Given the description of an element on the screen output the (x, y) to click on. 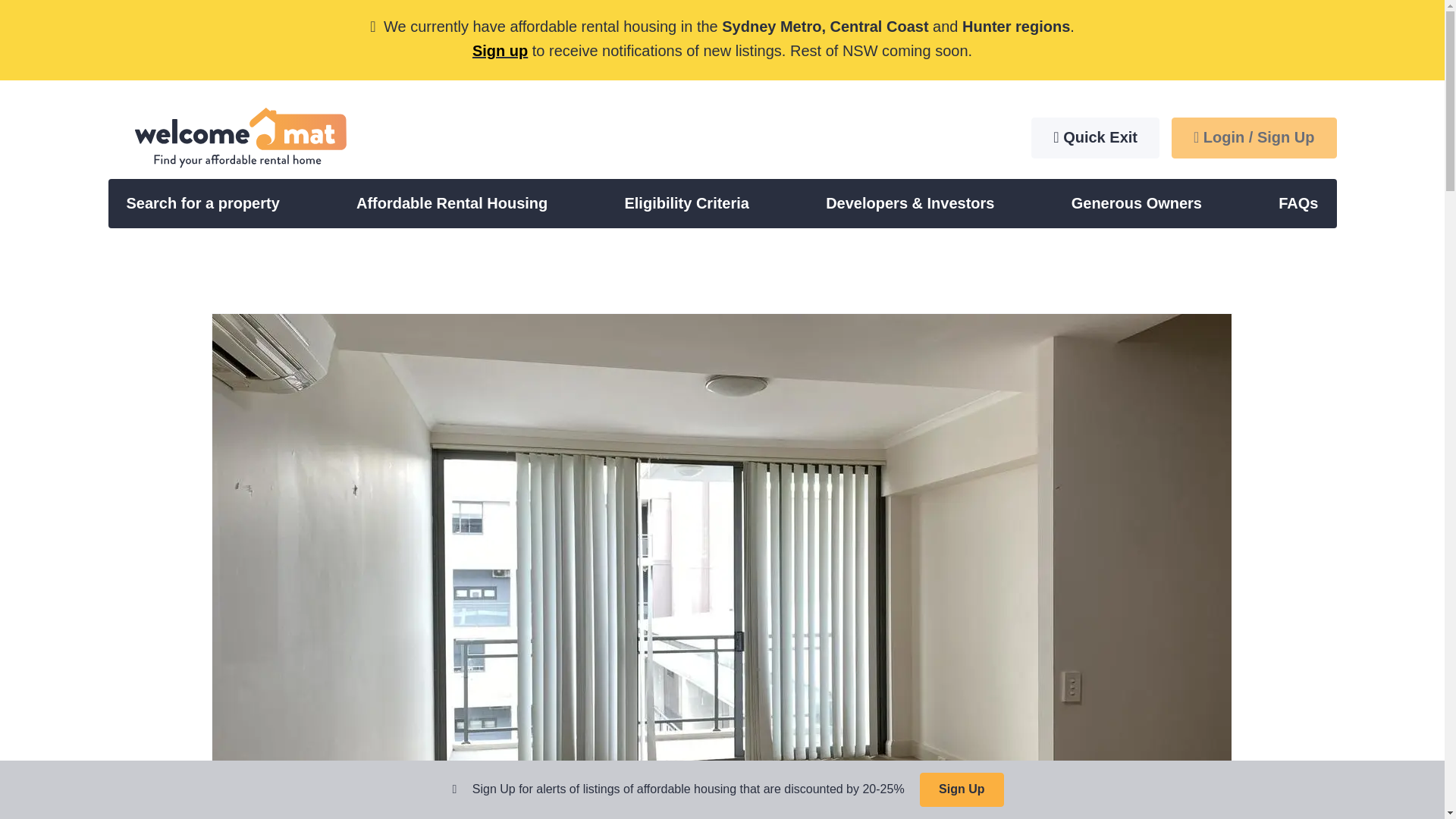
Search for a property (202, 203)
Quick Exit (1094, 137)
Generous Owners (1136, 203)
Eligibility Criteria (686, 203)
FAQs (1297, 203)
Sign up (499, 50)
Affordable Rental Housing (451, 203)
WelcomeMat (234, 141)
